Given the description of an element on the screen output the (x, y) to click on. 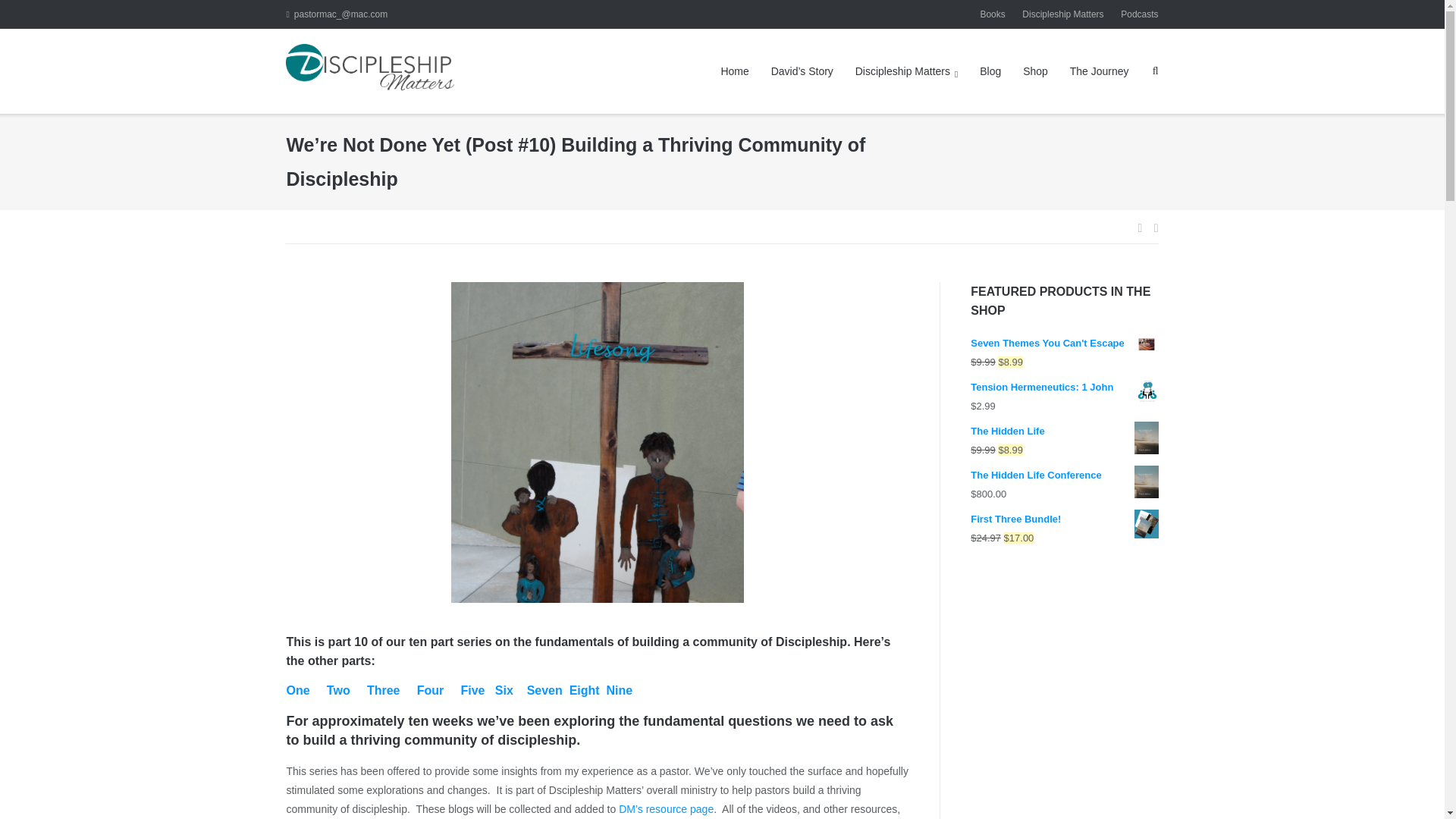
Podcasts (1139, 14)
Discipleship Matters (1062, 14)
Six (504, 689)
Three (383, 689)
Nine (620, 689)
Eight (584, 689)
One (296, 689)
Discipleship Matters (907, 70)
Four (430, 689)
Seven (544, 689)
